Given the description of an element on the screen output the (x, y) to click on. 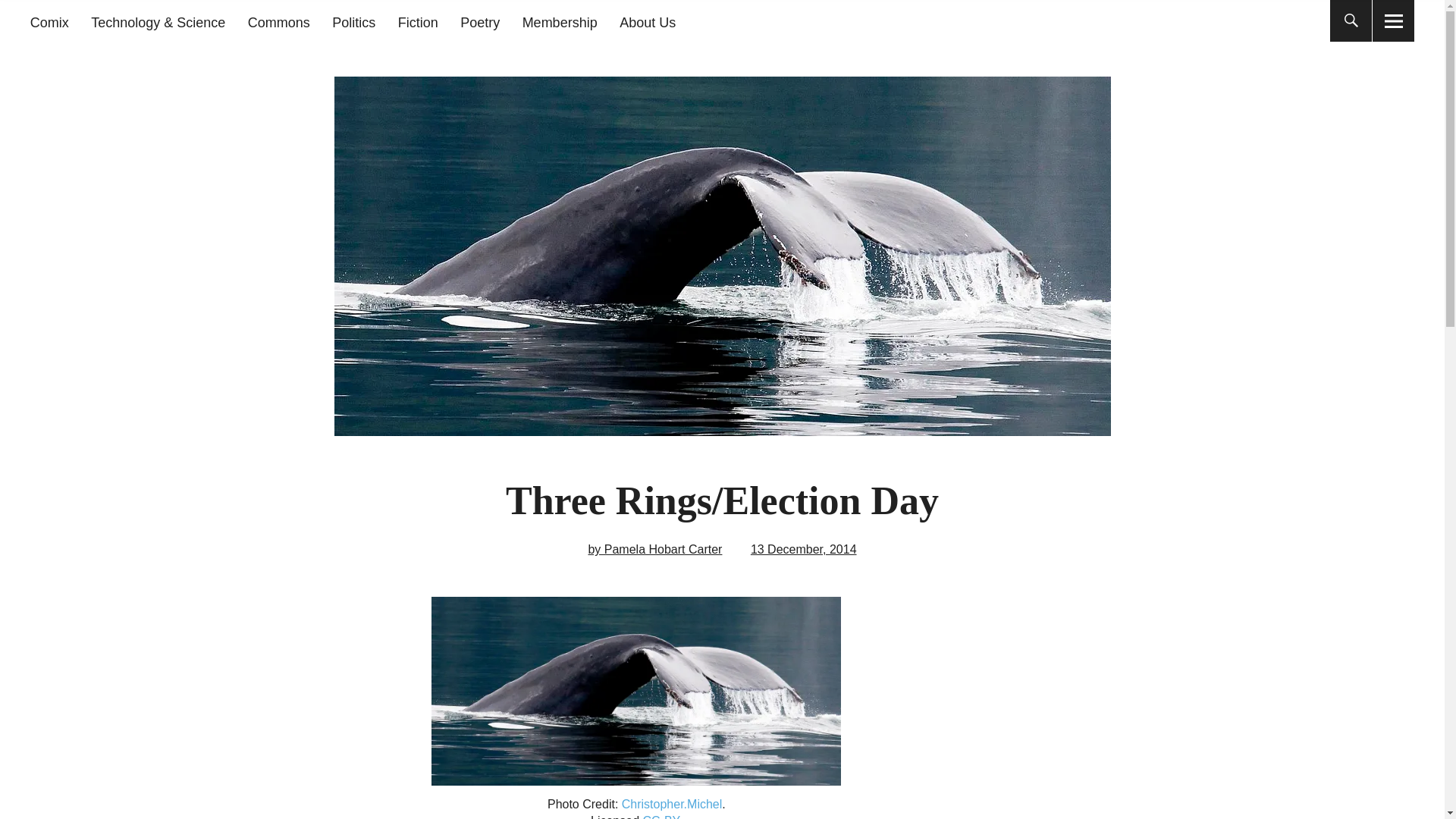
Membership (559, 22)
Christopher.Michel (671, 803)
The Seattle Star (230, 112)
13 December, 2014 (804, 549)
About Us (647, 22)
CC-BY (661, 816)
by Pamela Hobart Carter (655, 549)
Commons (278, 22)
Search (692, 19)
Poetry (479, 22)
Comix (49, 22)
Fiction (417, 22)
Politics (353, 22)
